Given the description of an element on the screen output the (x, y) to click on. 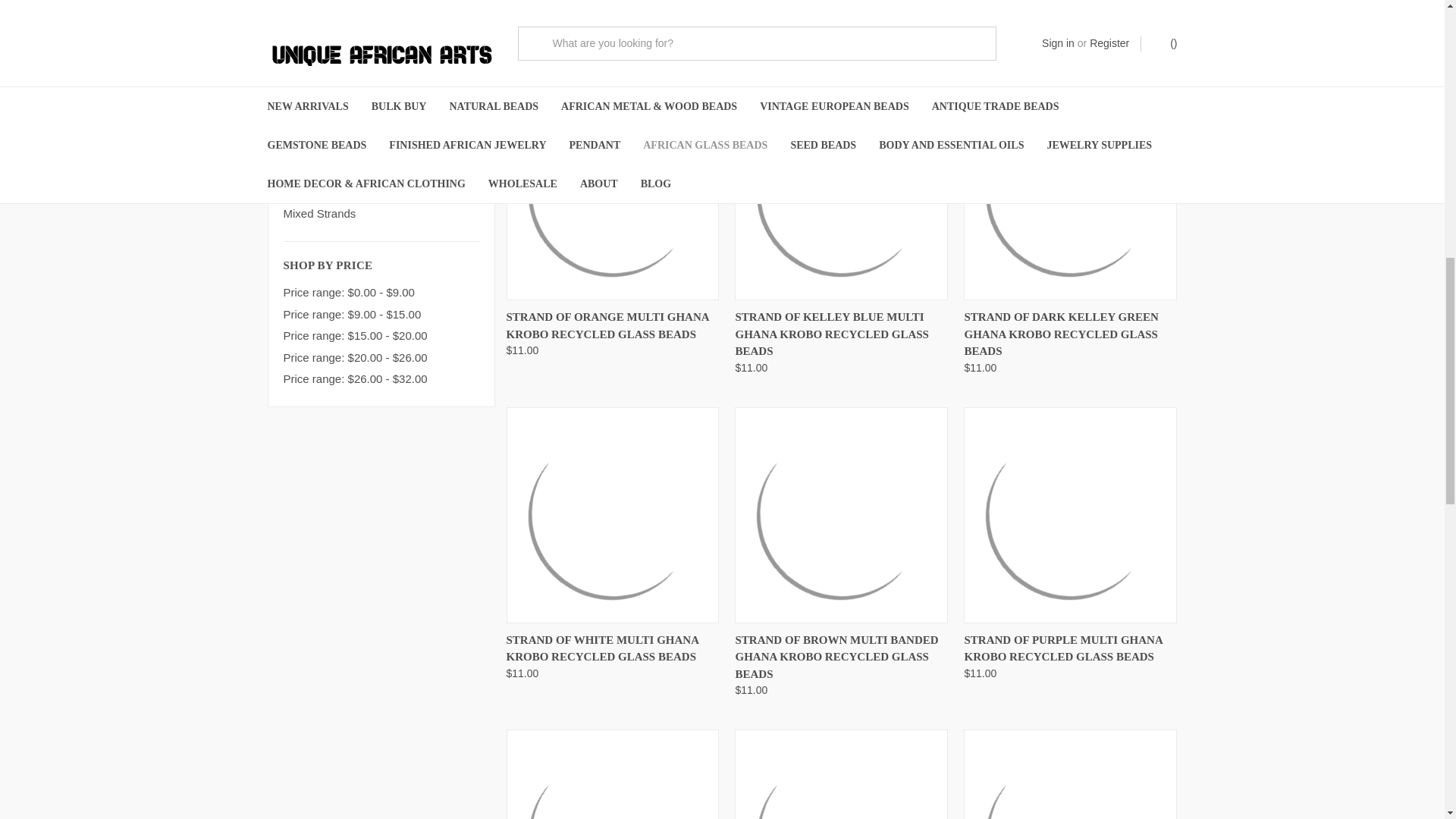
Transparent Glass beads (381, 149)
Strand of brown swirl Ghana Krobo recycled glass beads (612, 776)
Mixed Strands (381, 214)
Strand of Orange multi Ghana Krobo recycled glass beads (612, 191)
Short Strand (381, 170)
Strand of Kelley Blue multi Ghana Krobo recycled glass beads (841, 191)
Fancy multi color (381, 127)
Strand of purple multi Ghana Krobo recycled glass beads (1069, 515)
